Given the description of an element on the screen output the (x, y) to click on. 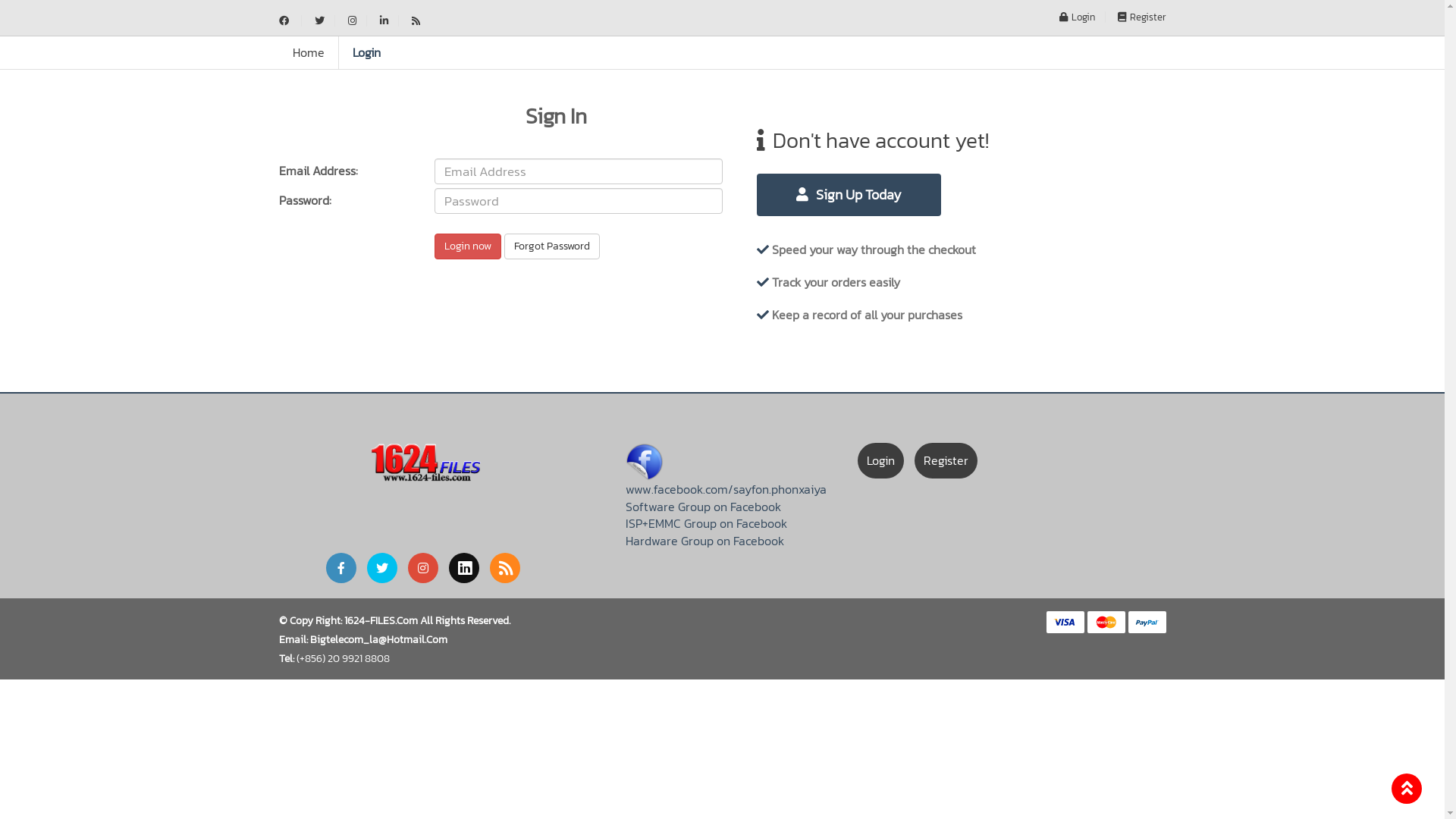
Login Element type: text (880, 460)
Bigtelecom_La@Hotmail.Com Element type: text (377, 639)
Hardware Group on Facebook Element type: text (704, 540)
www.facebook.com/sayfon.phonxaiya Element type: text (725, 489)
Login Element type: text (1077, 16)
ISP+EMMC Group on Facebook Element type: text (706, 523)
Home Element type: text (308, 52)
1624-FILES.Com Element type: text (380, 620)
Register Element type: text (945, 460)
Forgot Password Element type: text (551, 246)
Software Group on Facebook Element type: text (703, 506)
Sign Up Today Element type: text (848, 194)
Register Element type: text (1137, 16)
Login now Element type: text (466, 246)
Login Element type: text (365, 52)
